Given the description of an element on the screen output the (x, y) to click on. 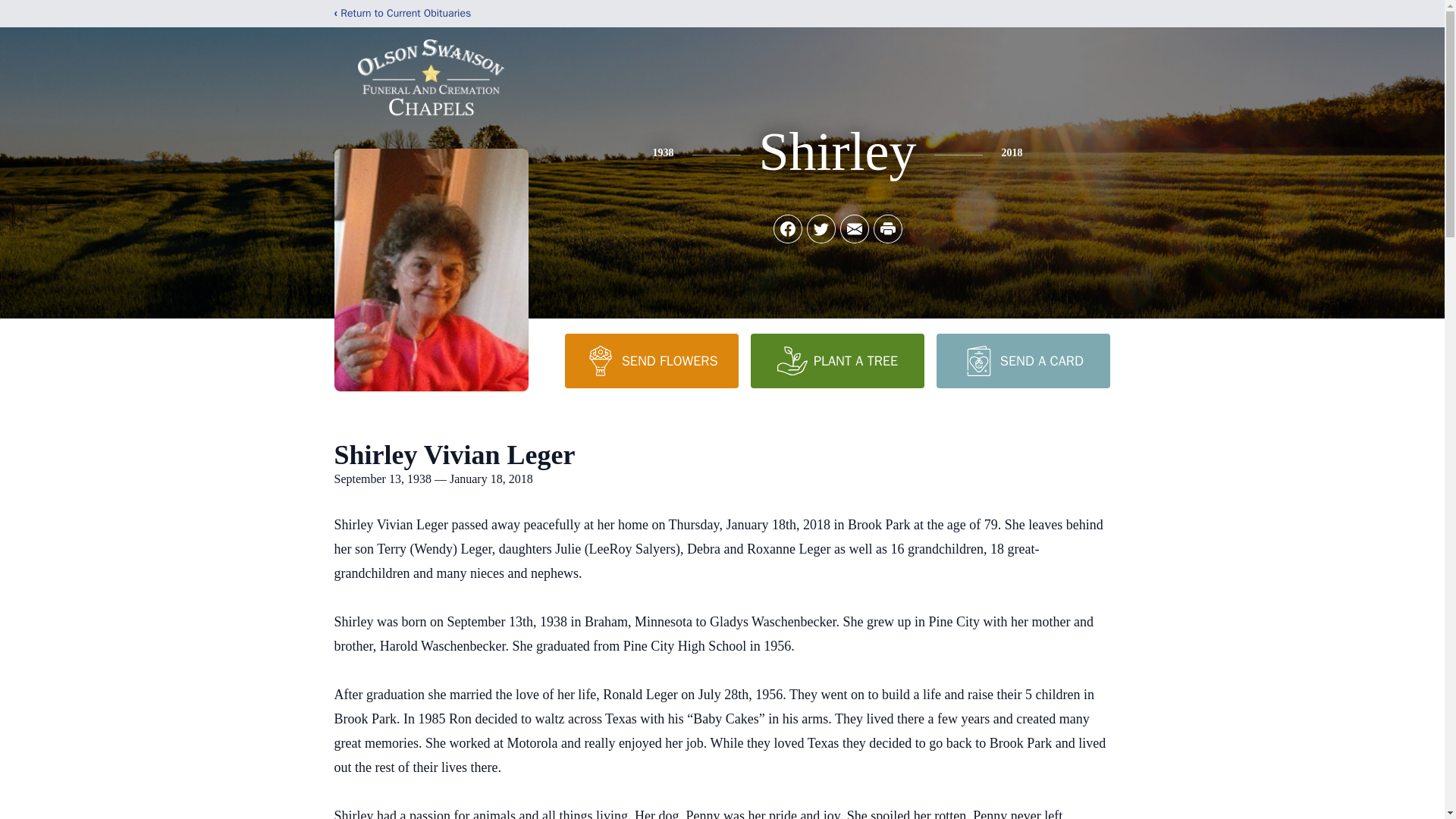
SEND FLOWERS (651, 360)
SEND A CARD (1022, 360)
PLANT A TREE (837, 360)
